Given the description of an element on the screen output the (x, y) to click on. 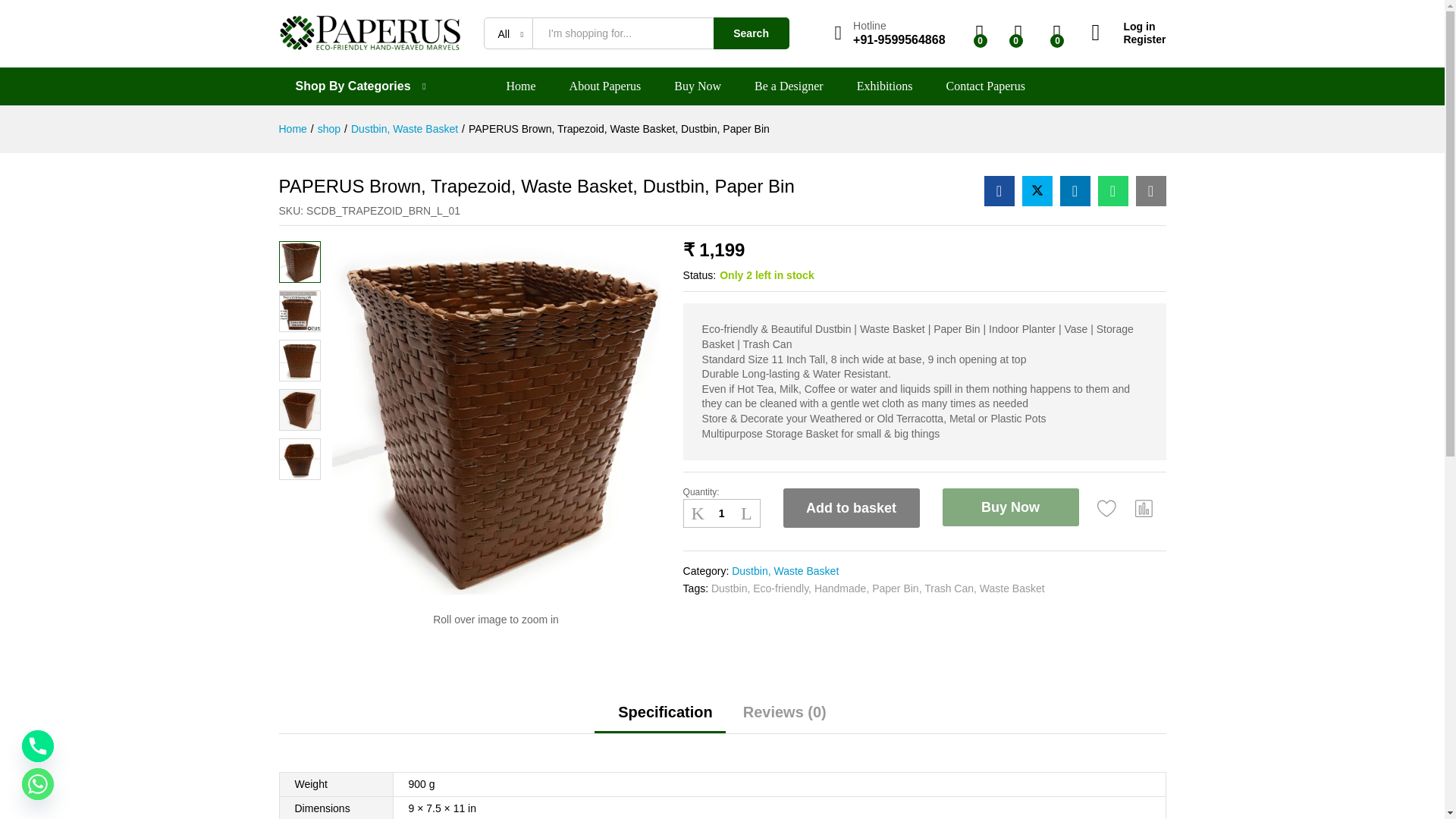
PAPERUS Brown, Trapezoid, Waste Basket, Dustbin, Paper Bin (1150, 191)
Exhibitions (884, 86)
Home (520, 86)
About Paperus (605, 86)
shop (328, 128)
Log in (1128, 26)
PAPERUS Brown, Trapezoid, Waste Basket, Dustbin, Paper Bin (1112, 191)
Wishlist (1106, 507)
Buy Now (697, 86)
Dustbin, Waste Basket (404, 128)
Home (293, 128)
Contact Paperus (984, 86)
PAPERUS Brown, Trapezoid, Waste Basket, Dustbin, Paper Bin (619, 128)
Register (1128, 39)
Qty (721, 513)
